Given the description of an element on the screen output the (x, y) to click on. 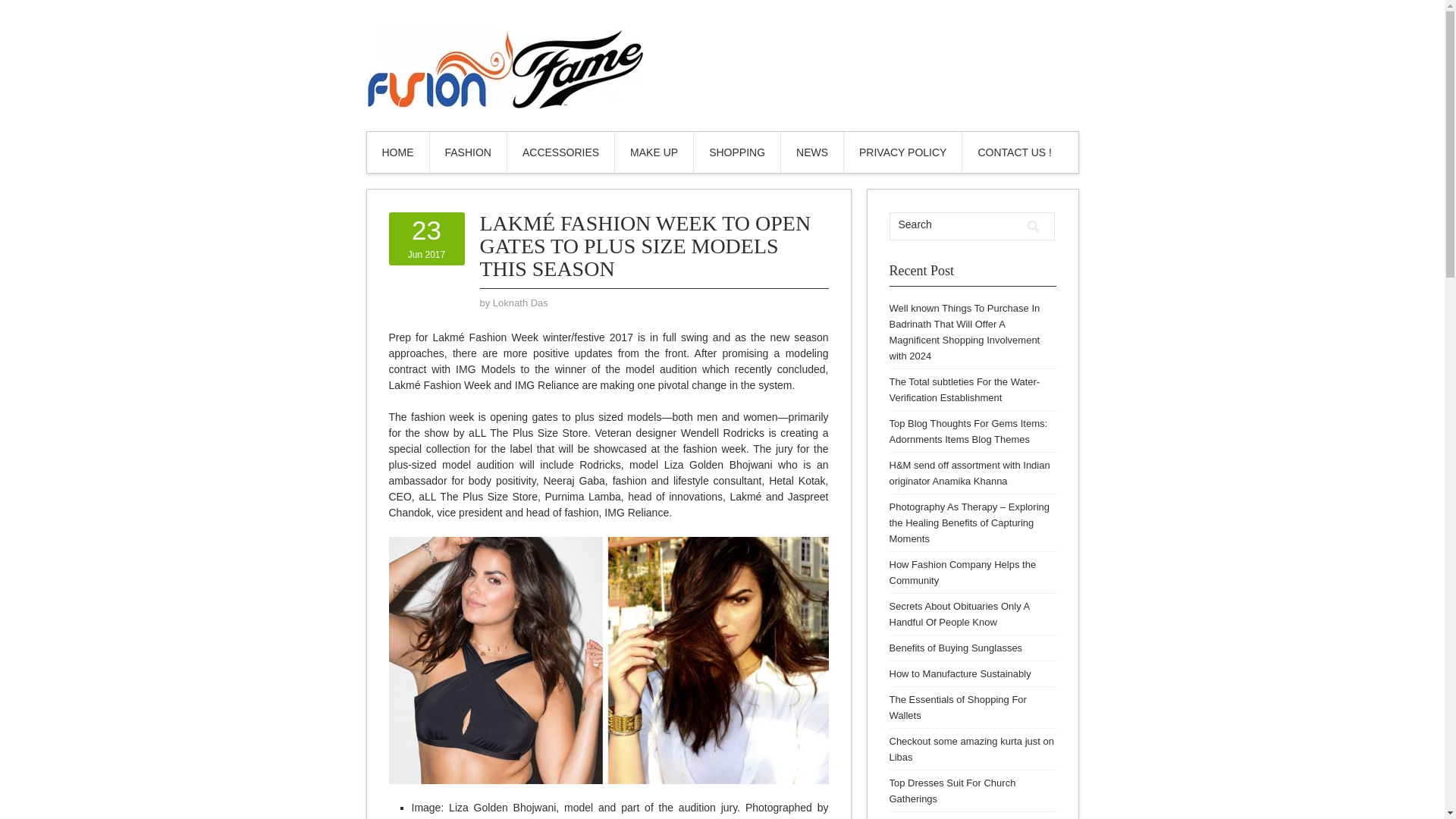
SHOPPING (737, 151)
HOME (397, 151)
Loknath Das (520, 302)
The Essentials of Shopping For Wallets (957, 707)
PRIVACY POLICY (902, 151)
lakme-fashion-week (608, 660)
FASHION (467, 151)
Search (1032, 226)
